Given the description of an element on the screen output the (x, y) to click on. 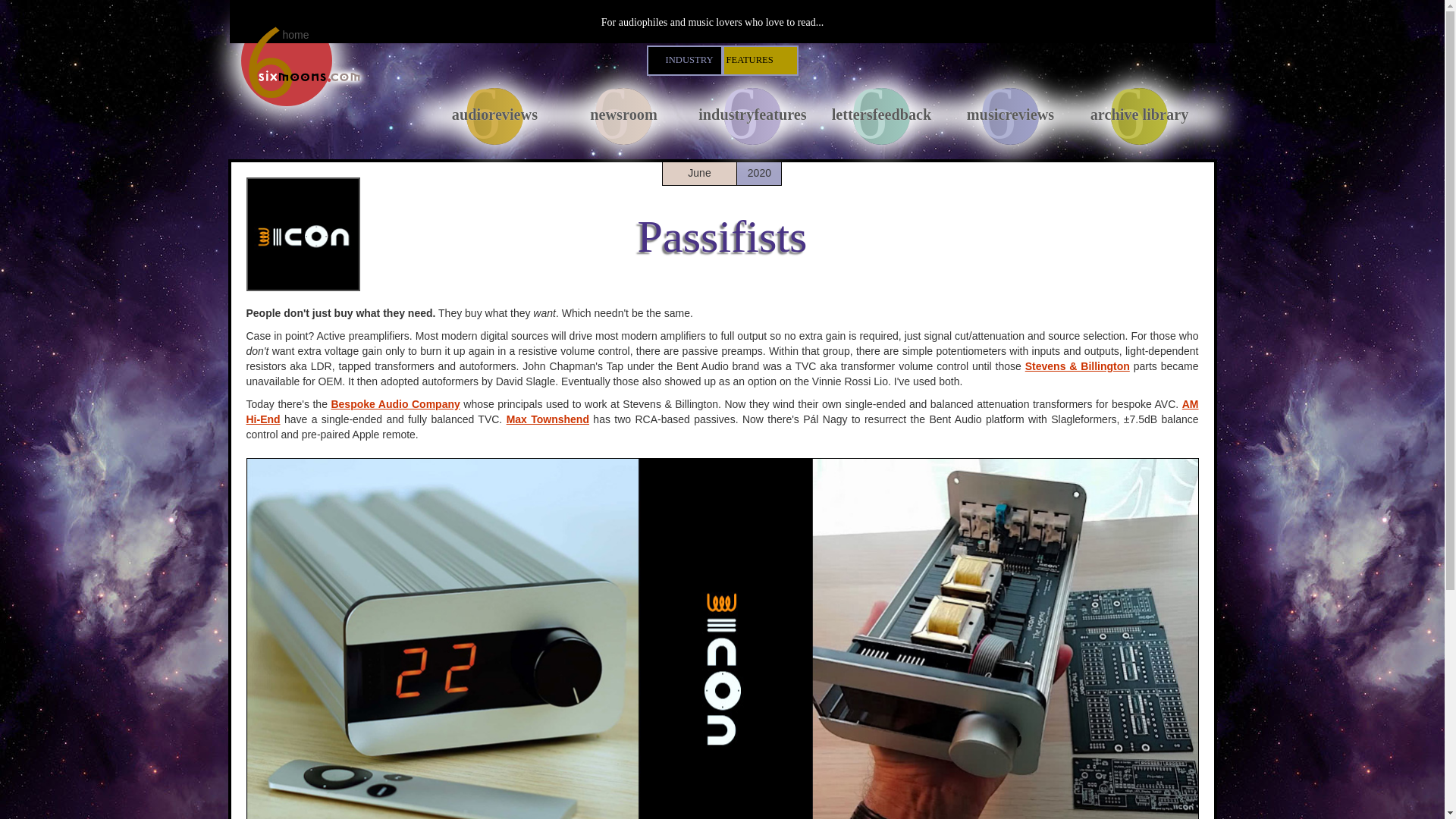
AM Hi-End (722, 411)
Bespoke Audio Company (395, 404)
Max Townshend (882, 113)
